Given the description of an element on the screen output the (x, y) to click on. 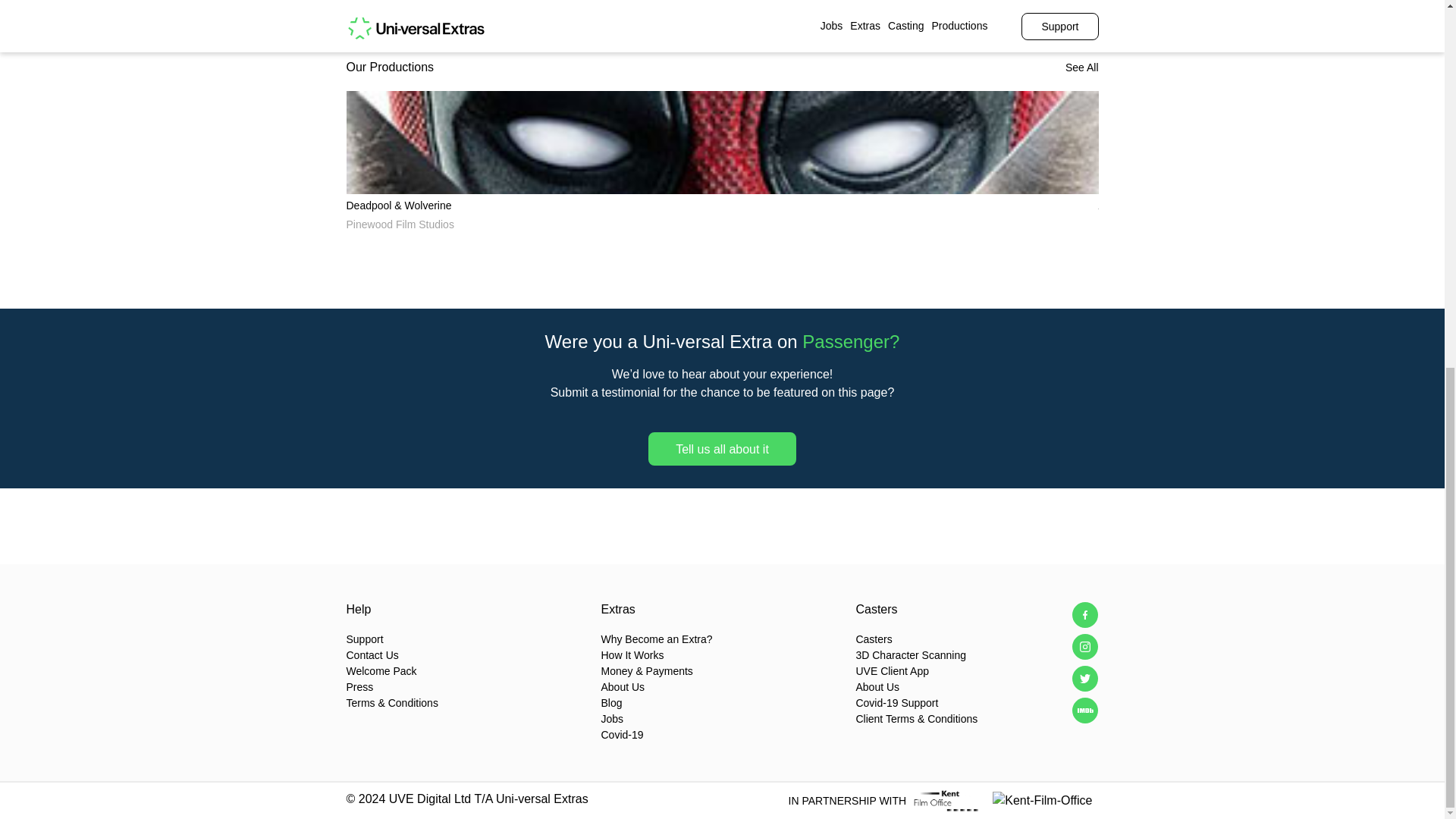
Tell us all about it (721, 449)
See All (1082, 67)
Support (467, 639)
